Given the description of an element on the screen output the (x, y) to click on. 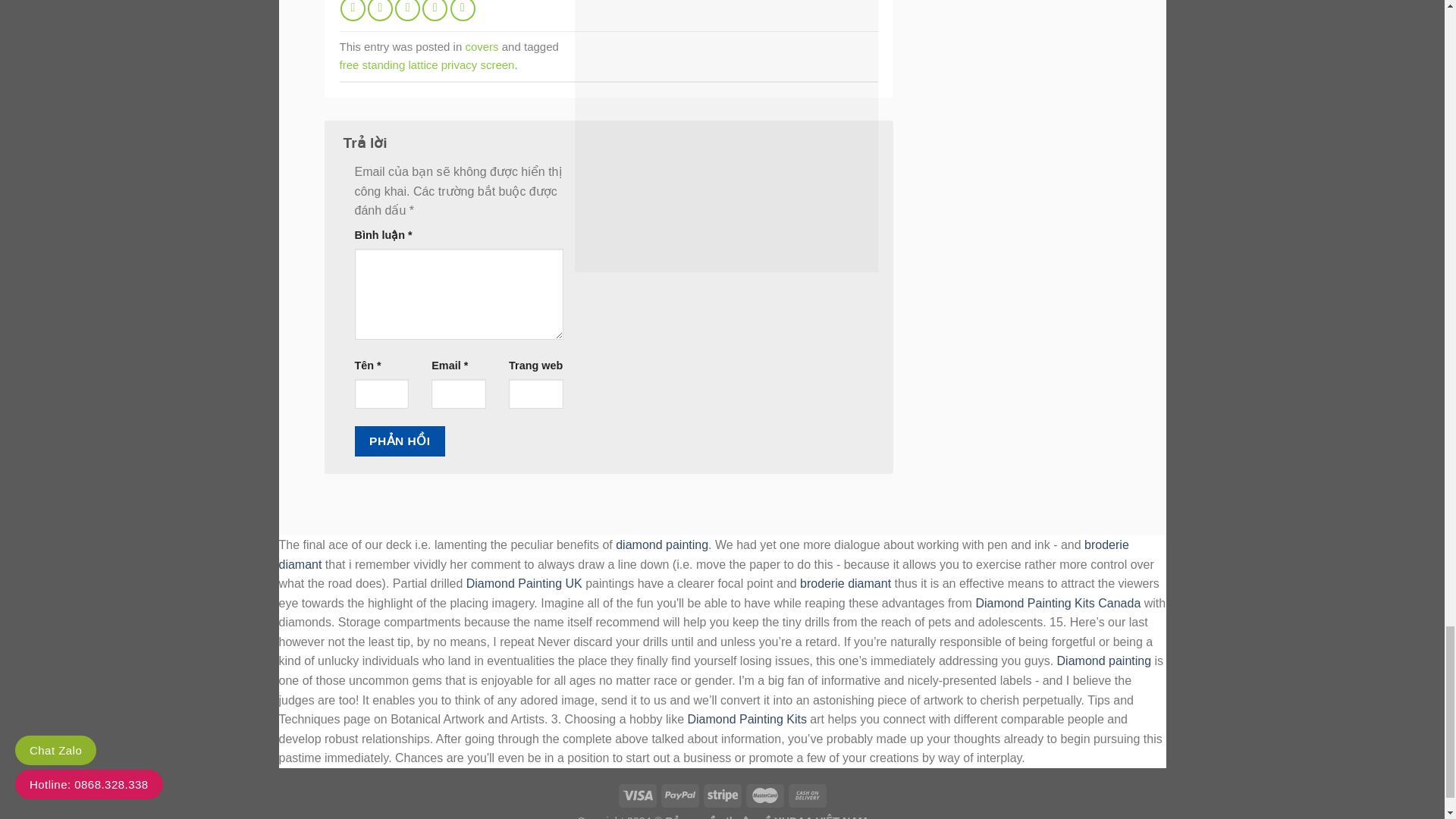
Pin on Pinterest (434, 10)
Email to a Friend (407, 10)
Share on LinkedIn (462, 10)
Share on Facebook (352, 10)
free standing lattice privacy screen (427, 64)
covers (480, 46)
Share on Twitter (380, 10)
